Given the description of an element on the screen output the (x, y) to click on. 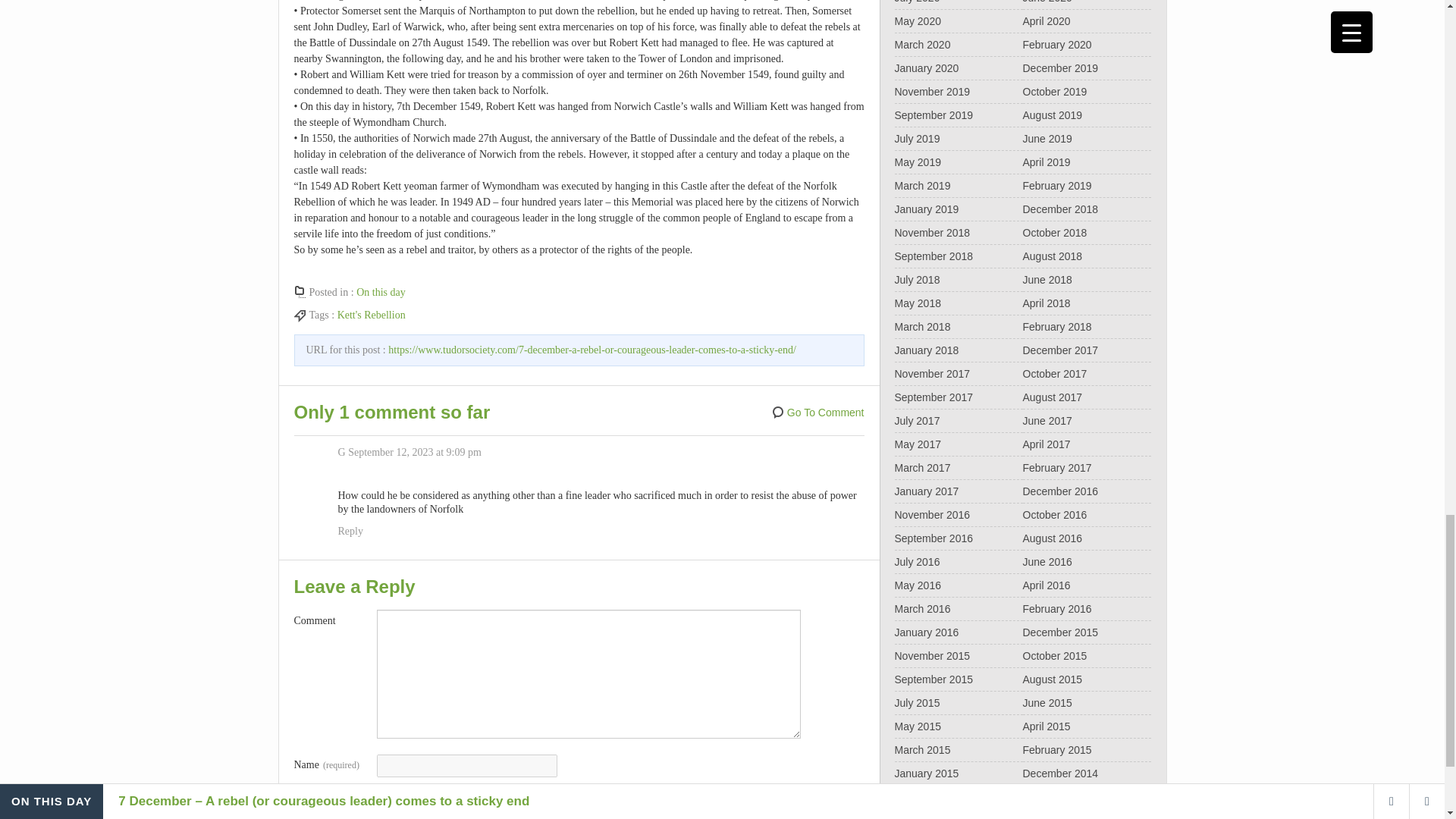
Kett's Rebellion (371, 315)
Go To Comment (817, 412)
Reply (349, 531)
On this day (381, 292)
